Given the description of an element on the screen output the (x, y) to click on. 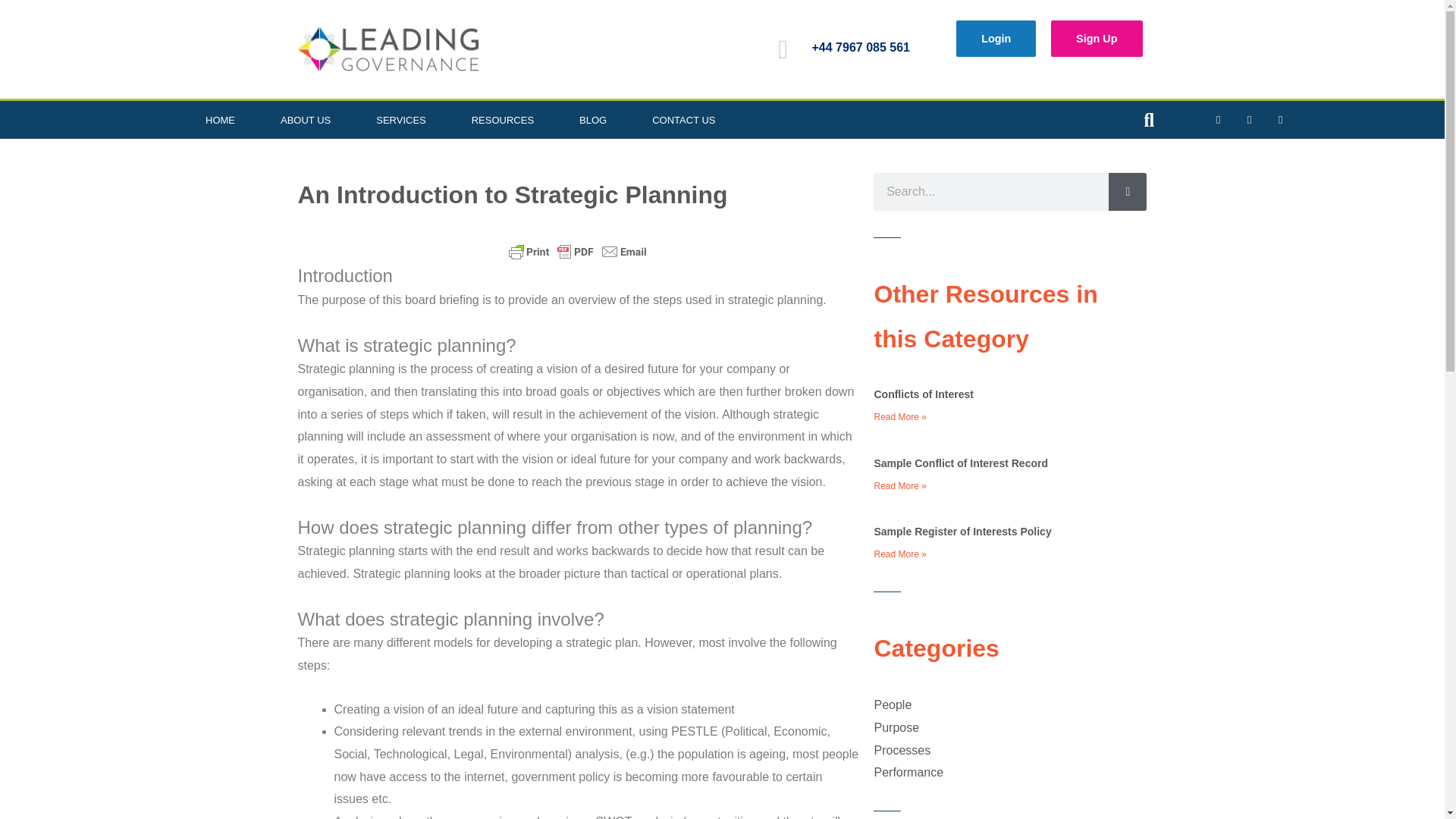
SERVICES (400, 119)
Sample Register of Interests Policy (962, 531)
Sign Up (1096, 38)
BLOG (592, 119)
CONTACT US (683, 119)
Conflicts of Interest (922, 394)
Login (995, 38)
HOME (220, 119)
Sample Conflict of Interest Record (959, 463)
ABOUT US (305, 119)
